Given the description of an element on the screen output the (x, y) to click on. 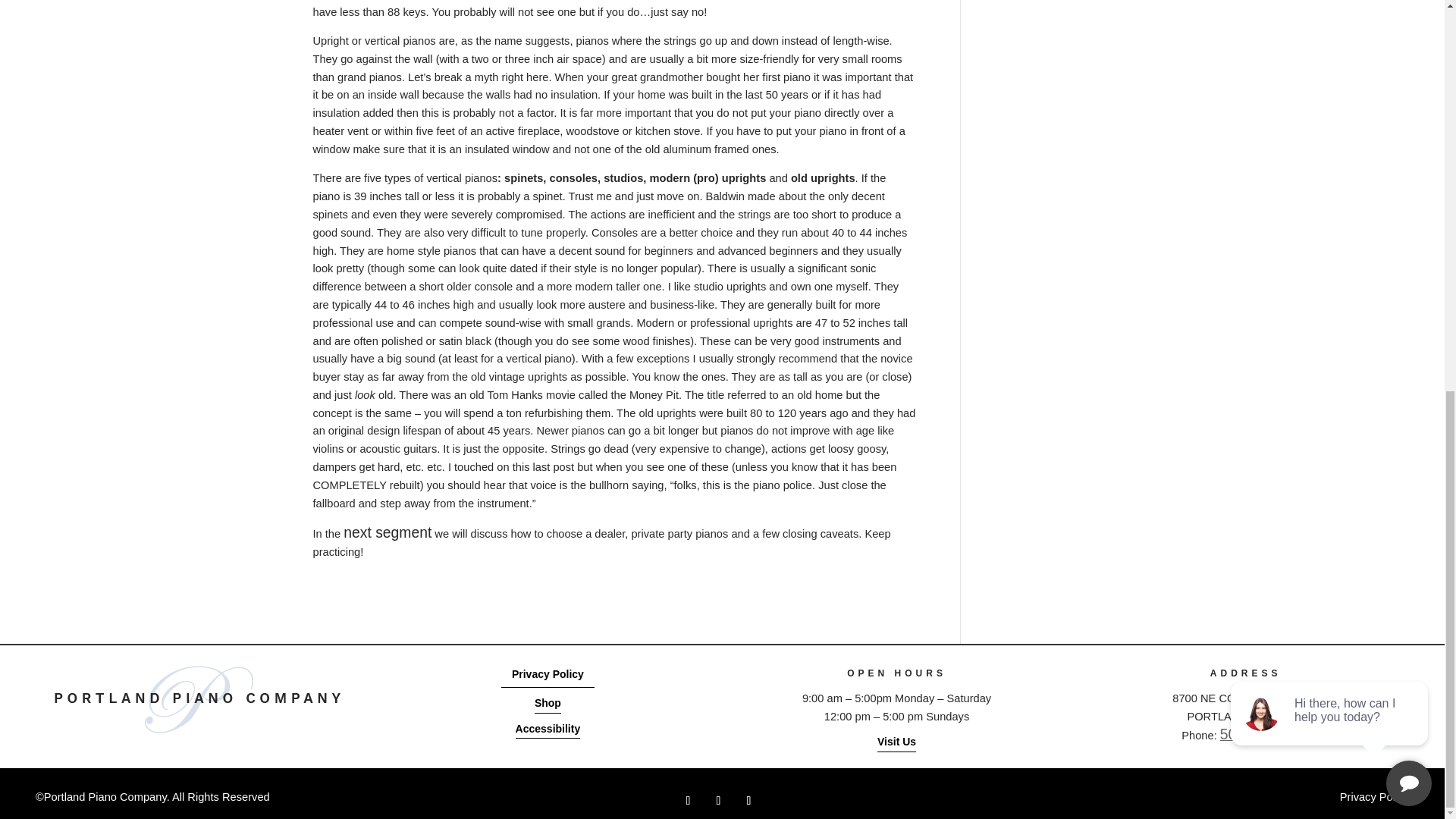
Follow on Yelp (748, 800)
PortlandPianoCompanyLogo 2017 (198, 699)
Follow on Facebook (687, 800)
Follow on X (718, 800)
